Given the description of an element on the screen output the (x, y) to click on. 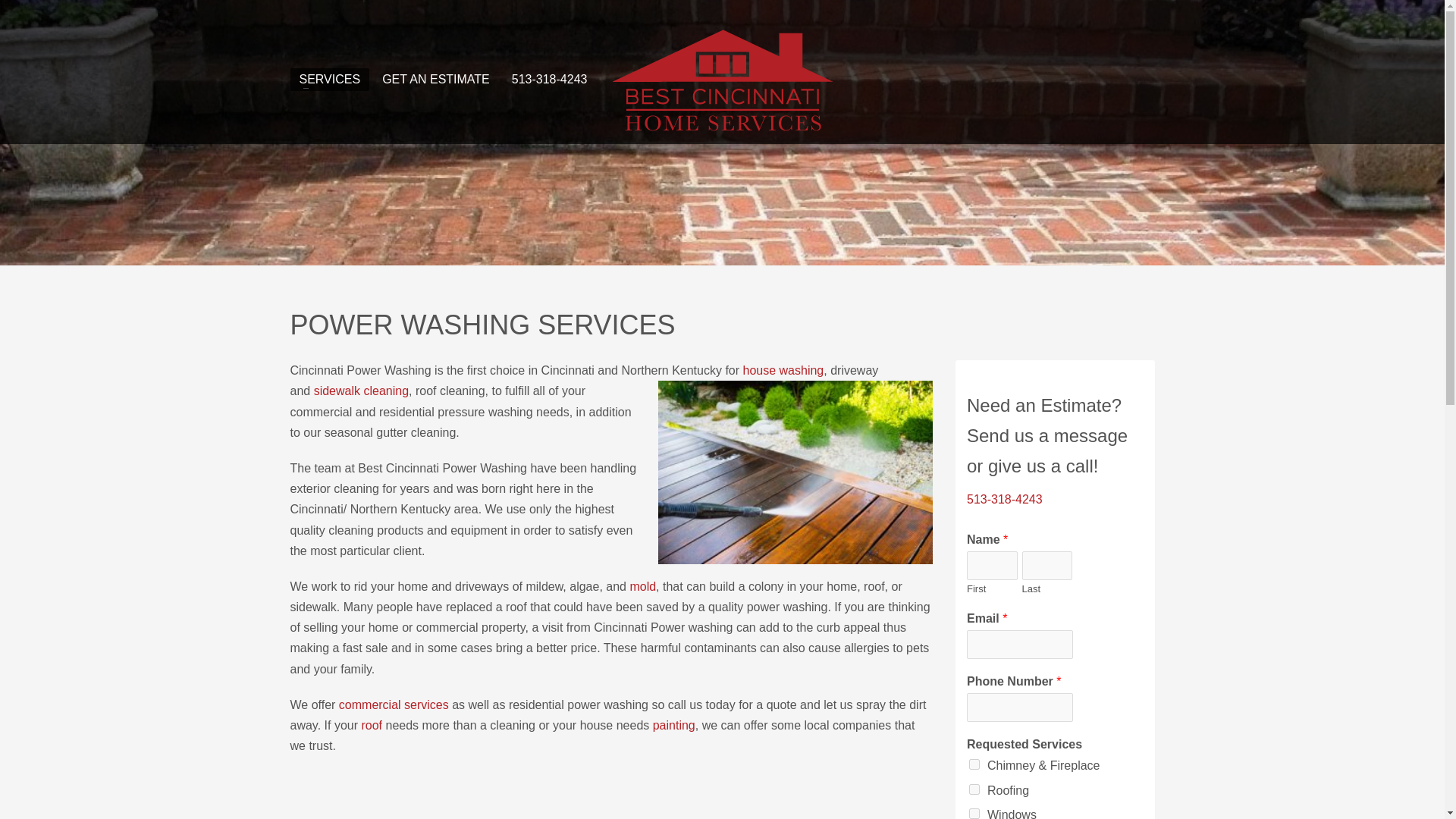
roof  (373, 725)
513-318-4243 (549, 79)
sidewalk cleaning (361, 390)
GET AN ESTIMATE (435, 79)
painting (673, 725)
513-318-4243 (1004, 499)
Everything under one roof! (721, 79)
mold (642, 585)
Windows (974, 813)
SERVICES (329, 79)
commercial services (393, 704)
house washing (783, 369)
Roofing (974, 788)
